Given the description of an element on the screen output the (x, y) to click on. 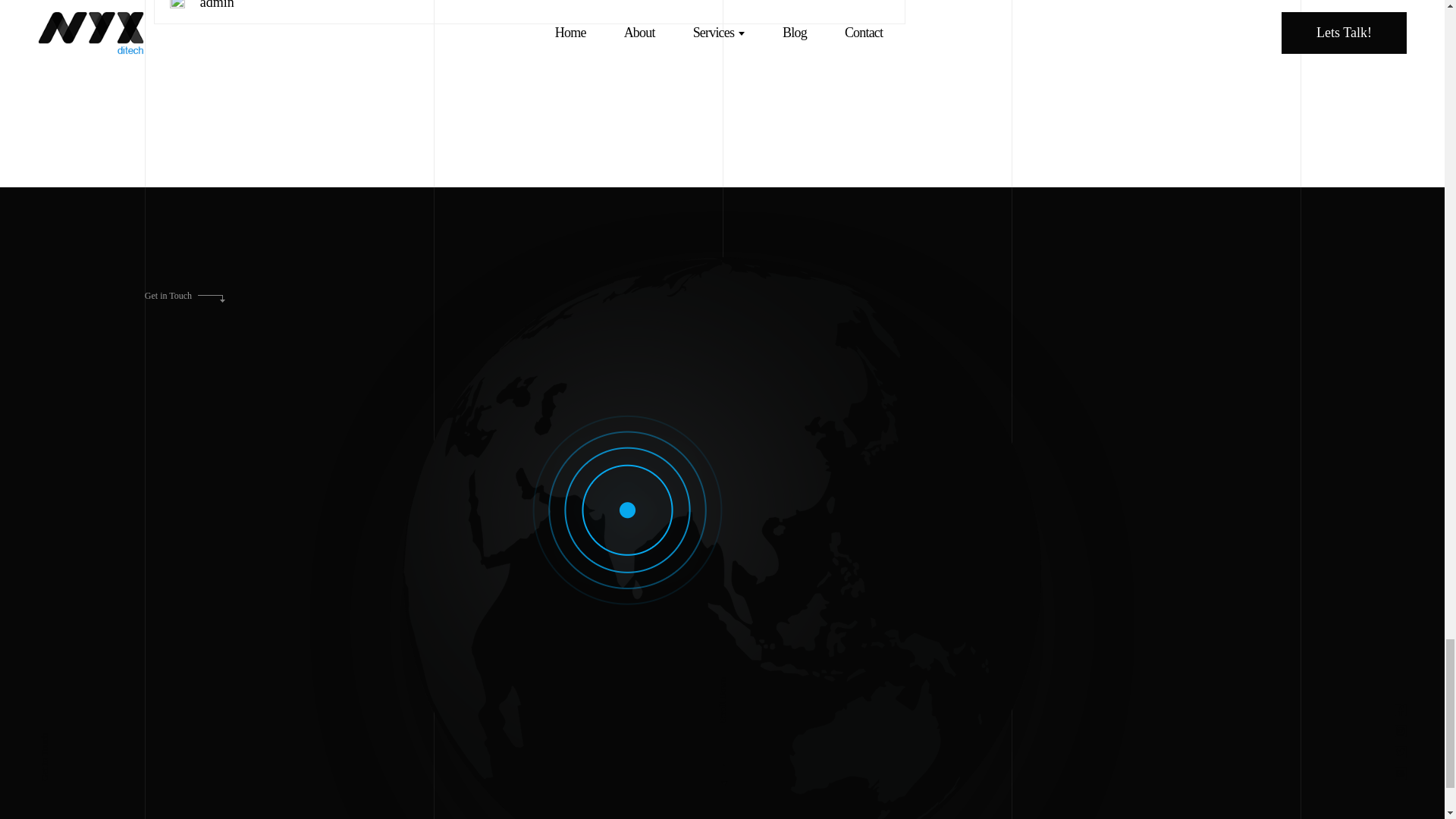
admin (217, 4)
